Given the description of an element on the screen output the (x, y) to click on. 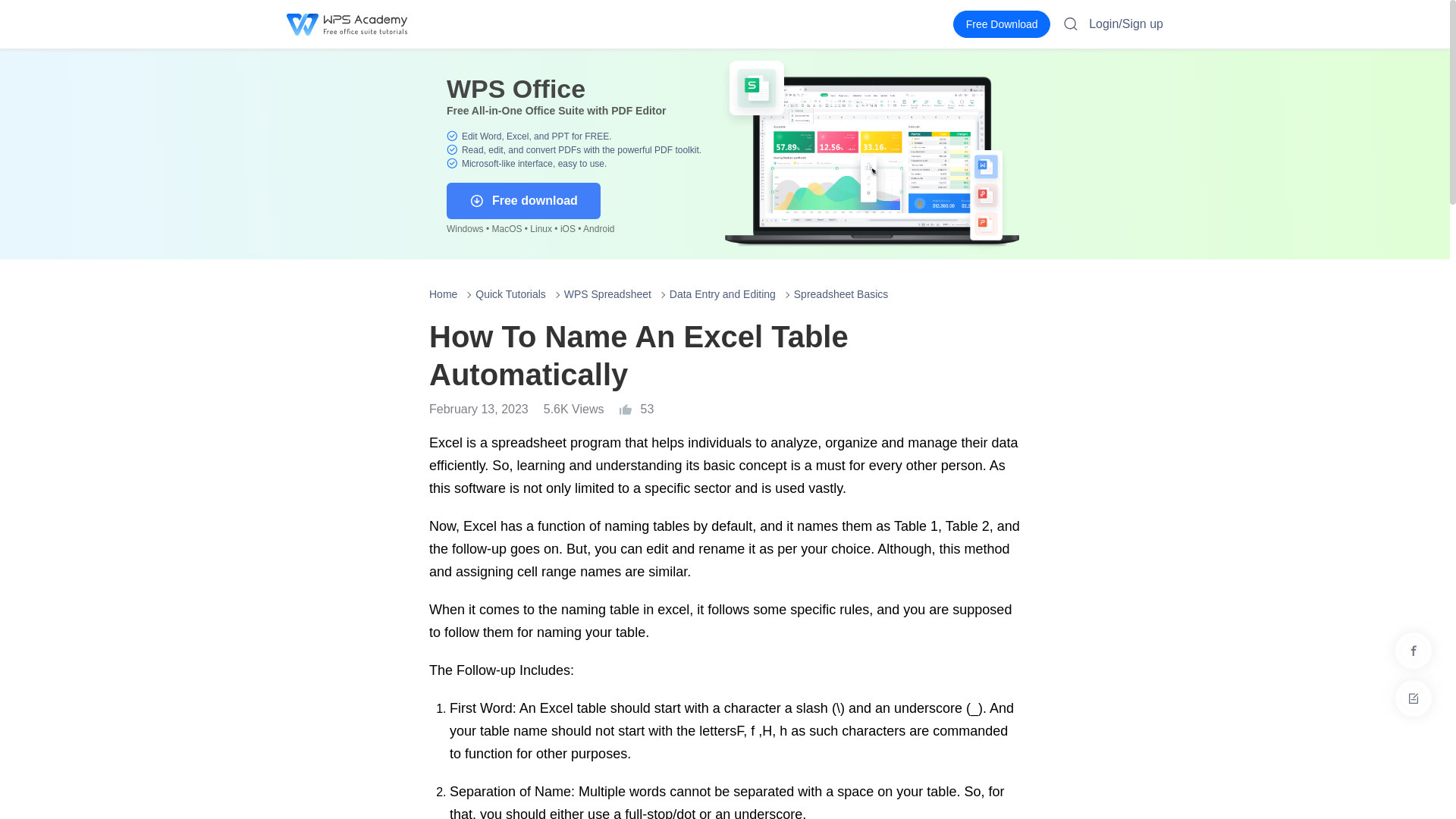
Data Entry and Editing (722, 294)
Spreadsheet Basics (840, 294)
Quick Tutorials (511, 294)
WPS Spreadsheet (607, 294)
Home (443, 294)
